Given the description of an element on the screen output the (x, y) to click on. 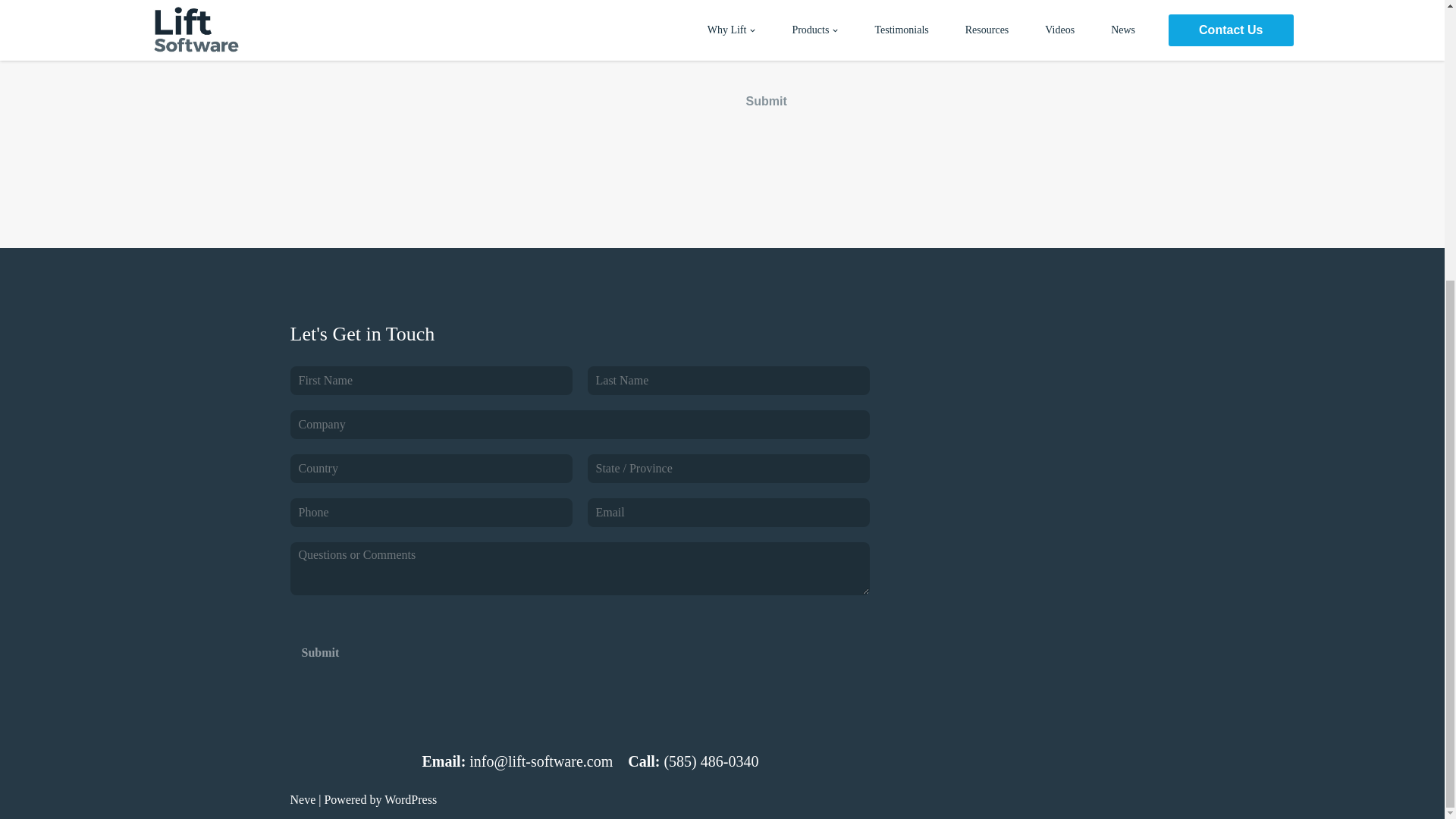
Submit (319, 652)
Neve (302, 799)
Submit (765, 101)
WordPress (410, 799)
